Given the description of an element on the screen output the (x, y) to click on. 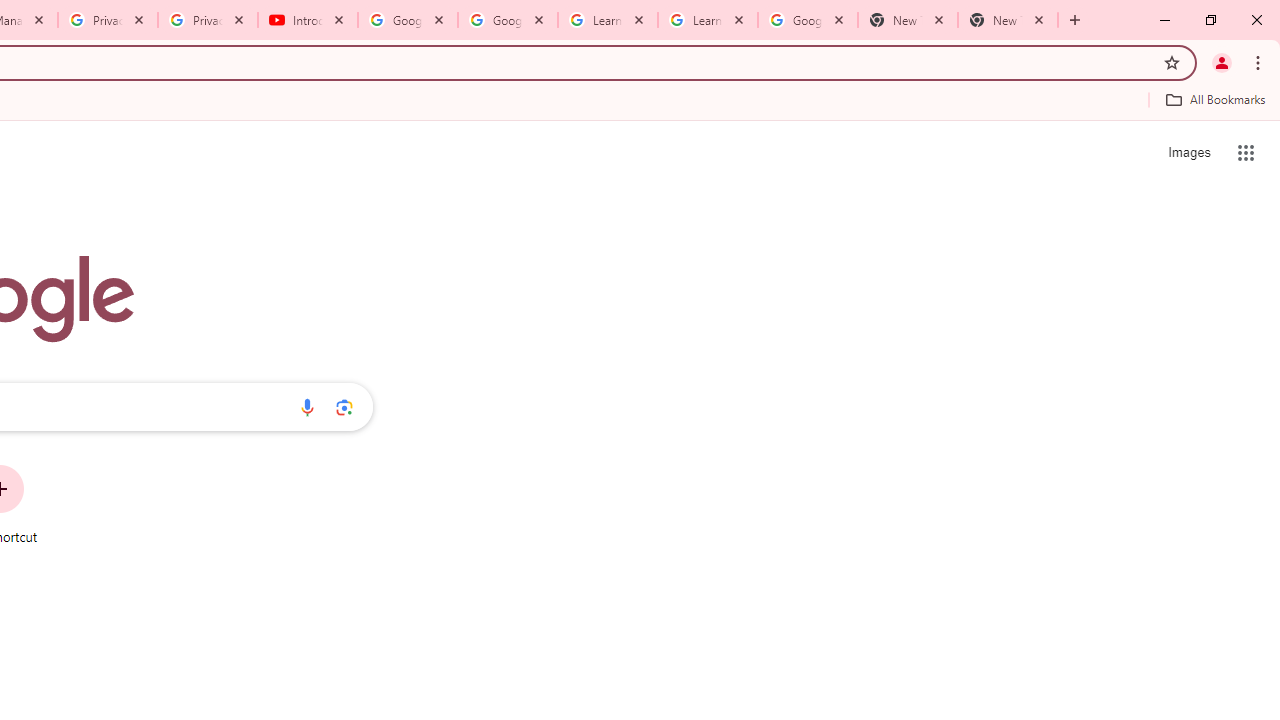
Google Account (807, 20)
Search for Images  (1188, 152)
Search by image (344, 407)
New Tab (907, 20)
New Tab (1007, 20)
Introduction | Google Privacy Policy - YouTube (308, 20)
Google Account Help (408, 20)
All Bookmarks (1215, 99)
